Given the description of an element on the screen output the (x, y) to click on. 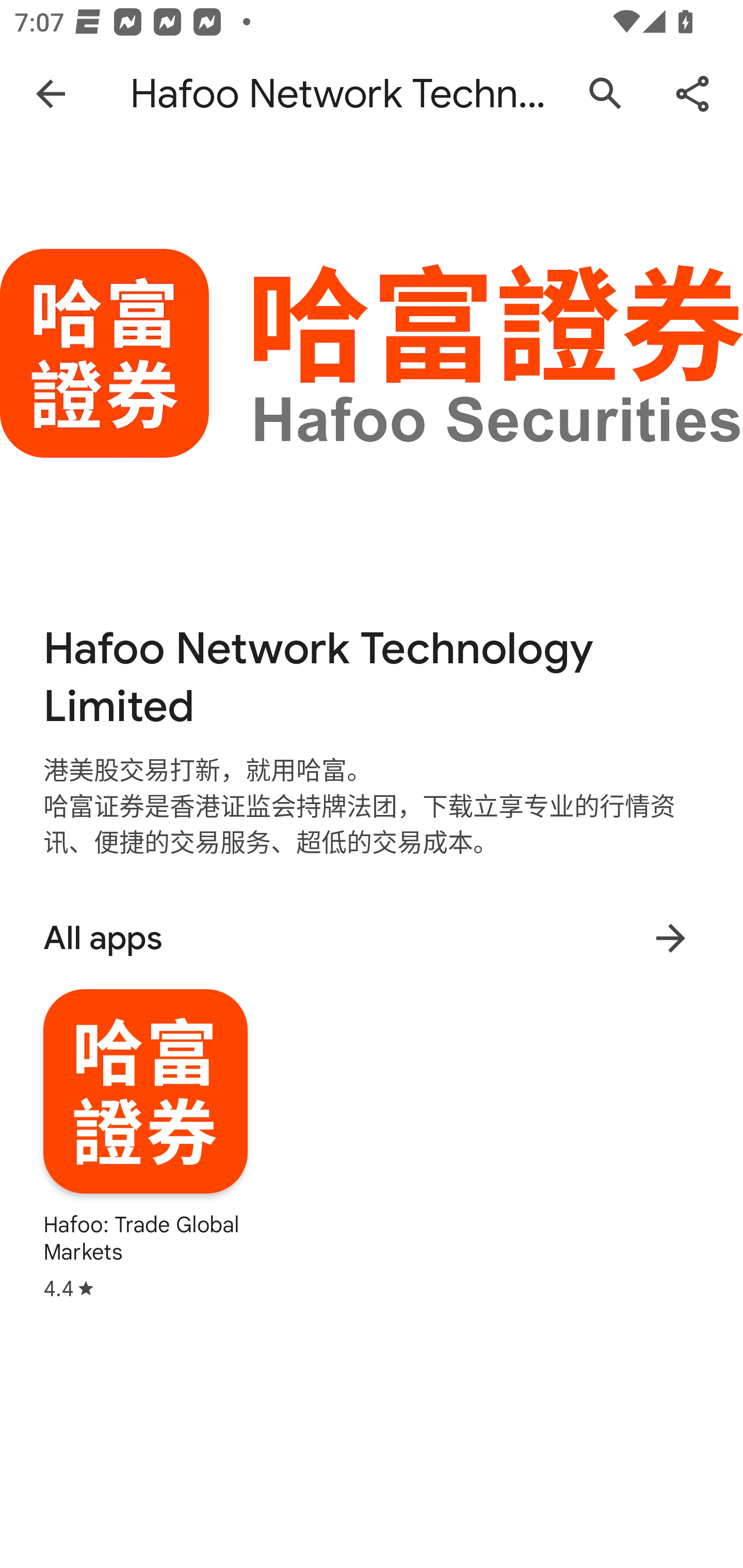
Navigate up (50, 93)
Search Google Play (605, 93)
Share (692, 93)
All apps More results for All apps (371, 938)
More results for All apps (670, 938)
Hafoo: Trade Global Markets
Star rating: 4.4
 (145, 1144)
